Given the description of an element on the screen output the (x, y) to click on. 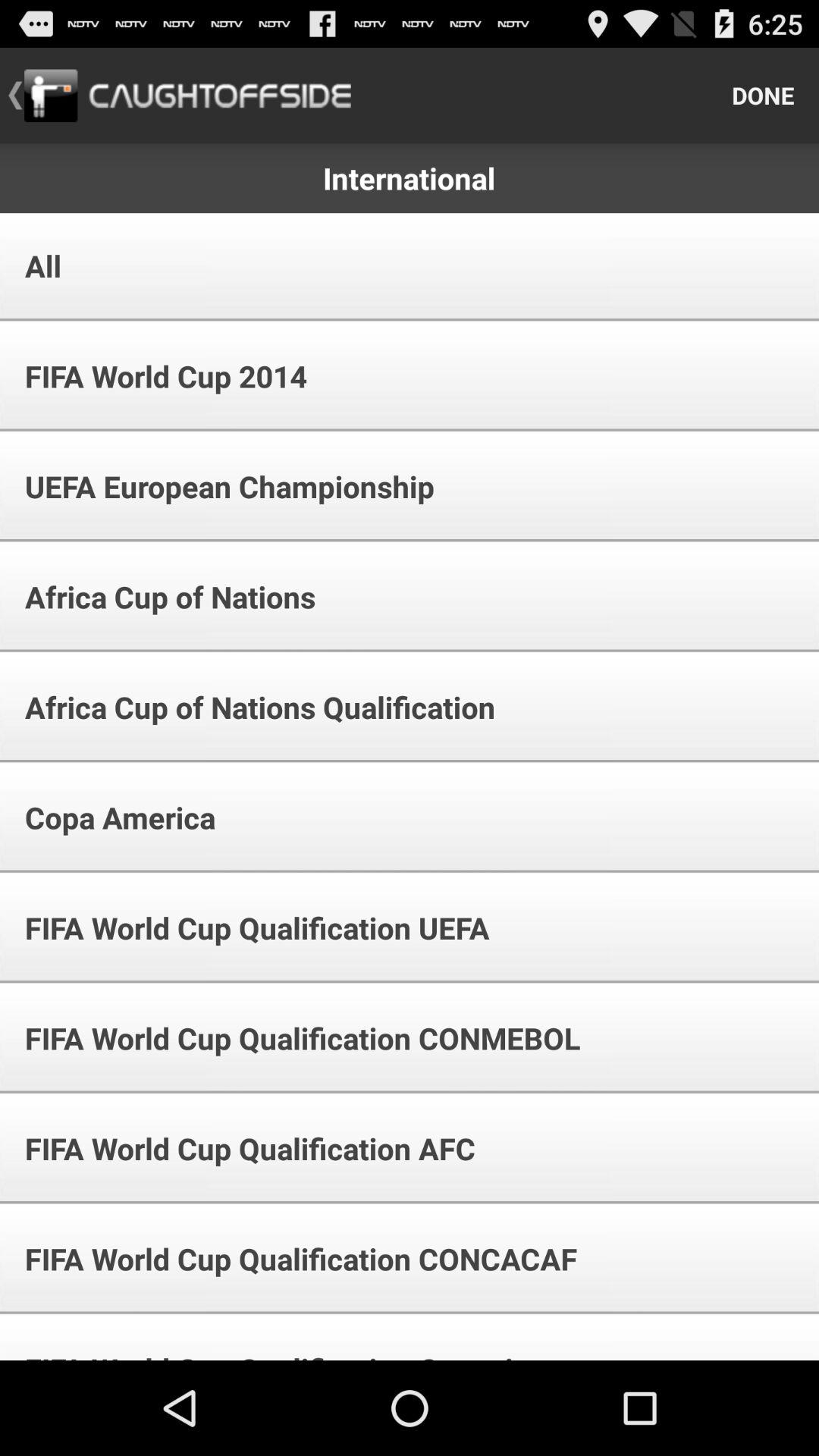
select the app above the fifa world cup (110, 817)
